Given the description of an element on the screen output the (x, y) to click on. 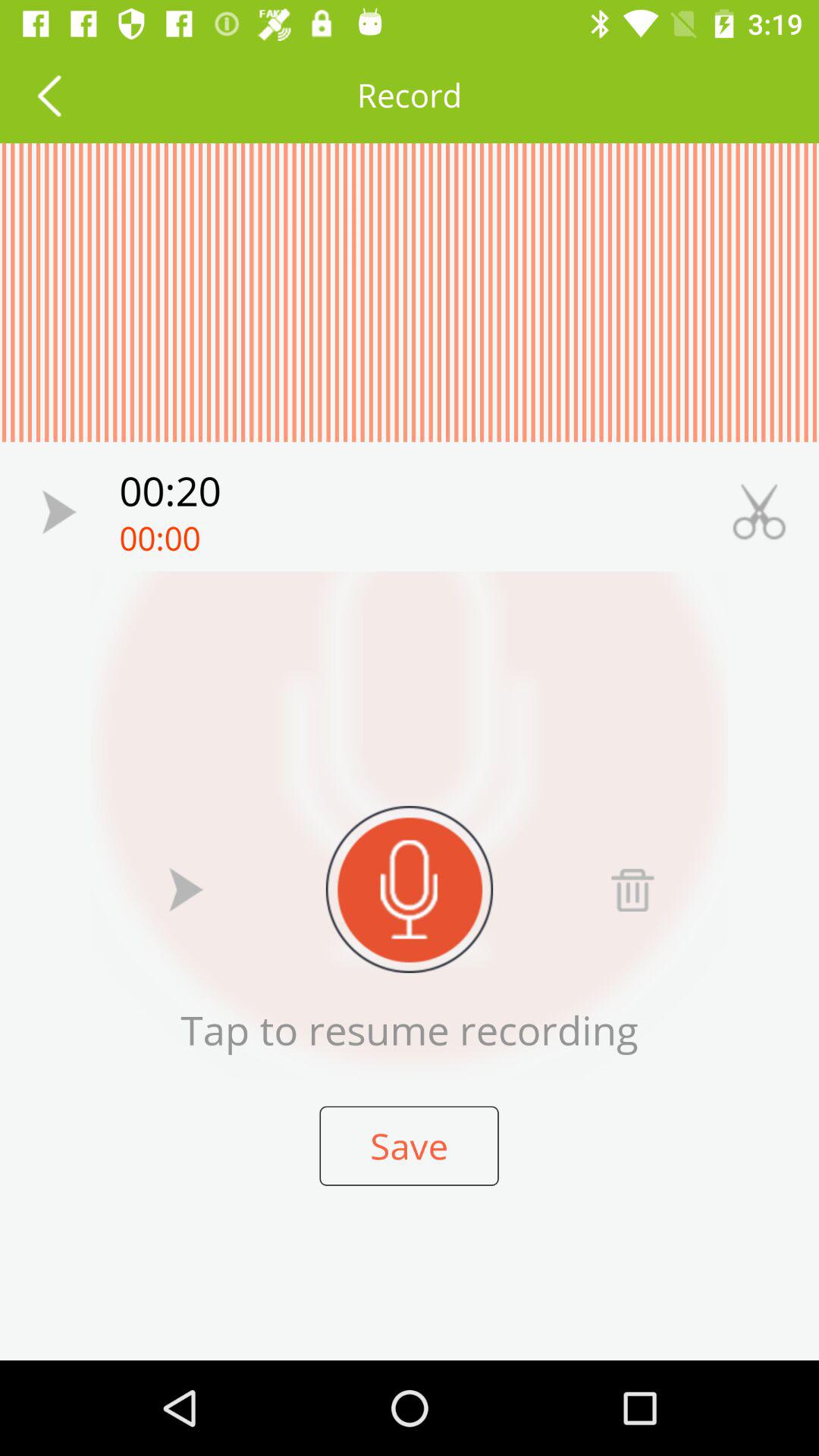
cut a section (759, 511)
